Given the description of an element on the screen output the (x, y) to click on. 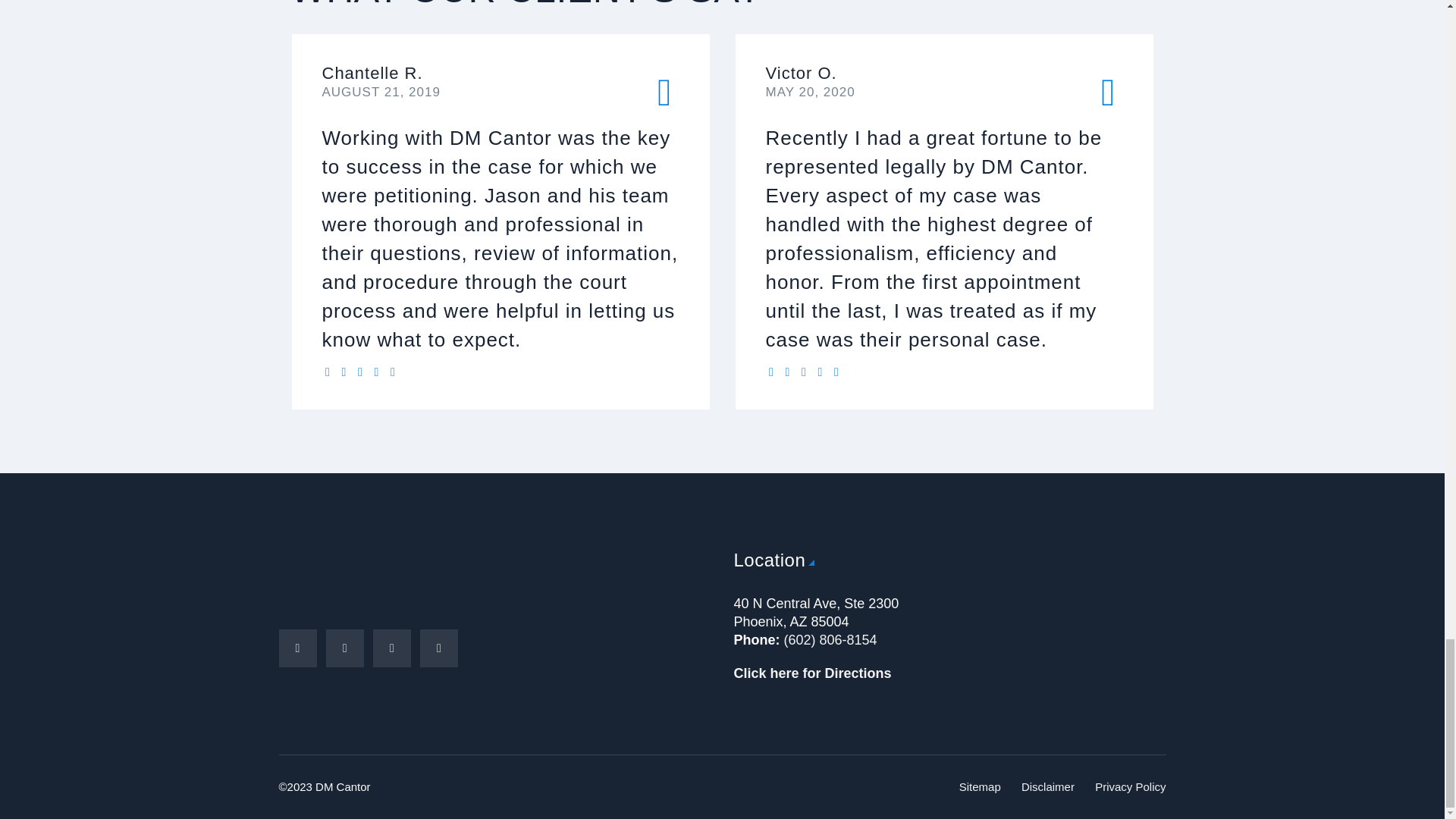
Privacy Policy (1130, 786)
Click here for Directions (812, 672)
Sitemap (980, 786)
Disclaimer (1048, 786)
Click here for Directions (812, 672)
